Given the description of an element on the screen output the (x, y) to click on. 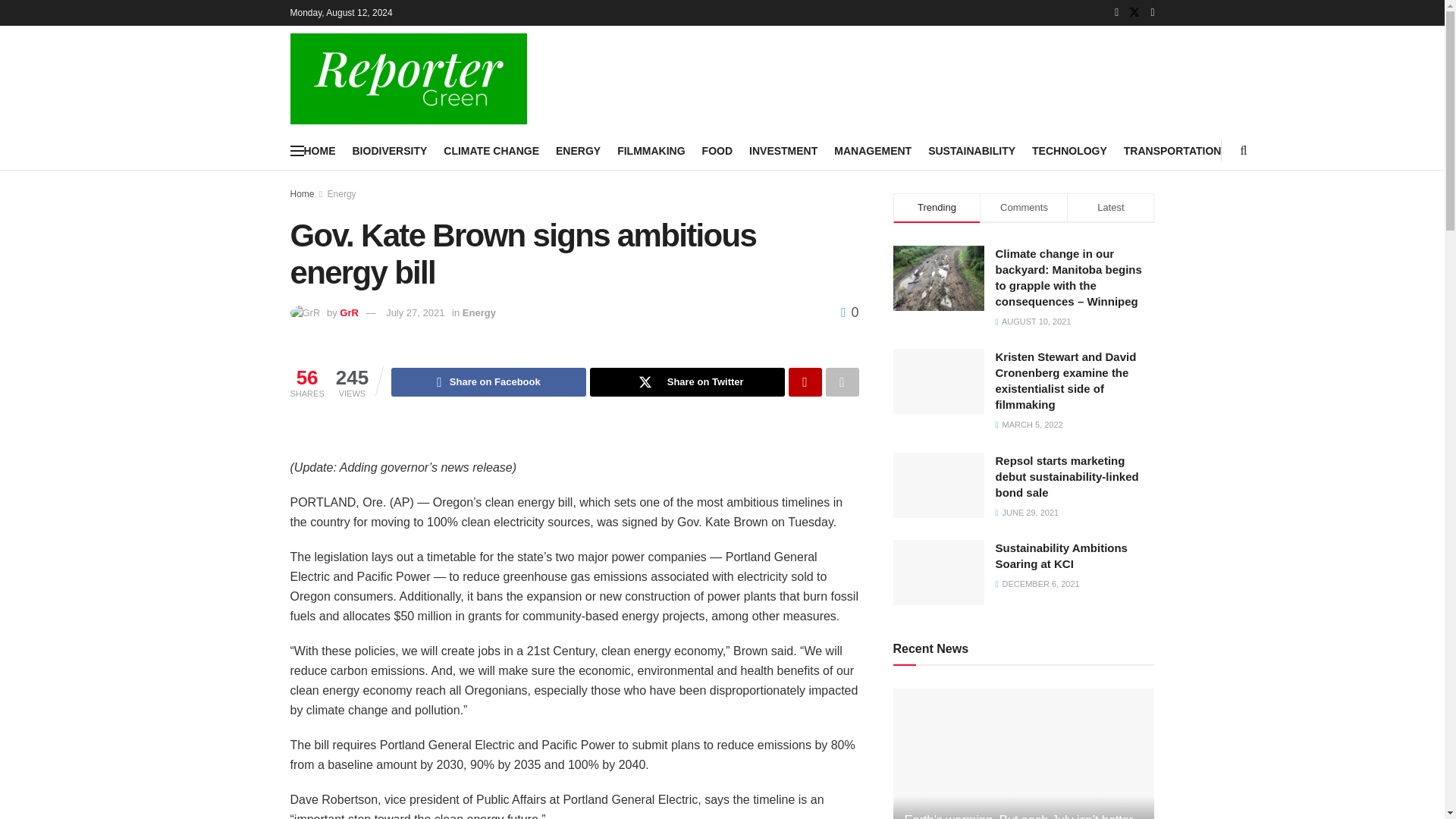
FOOD (716, 150)
TRANSPORTATION (1172, 150)
SUSTAINABILITY (971, 150)
Home (301, 194)
CLIMATE CHANGE (491, 150)
HOME (318, 150)
Energy (341, 194)
INVESTMENT (782, 150)
BIODIVERSITY (389, 150)
MANAGEMENT (872, 150)
